Given the description of an element on the screen output the (x, y) to click on. 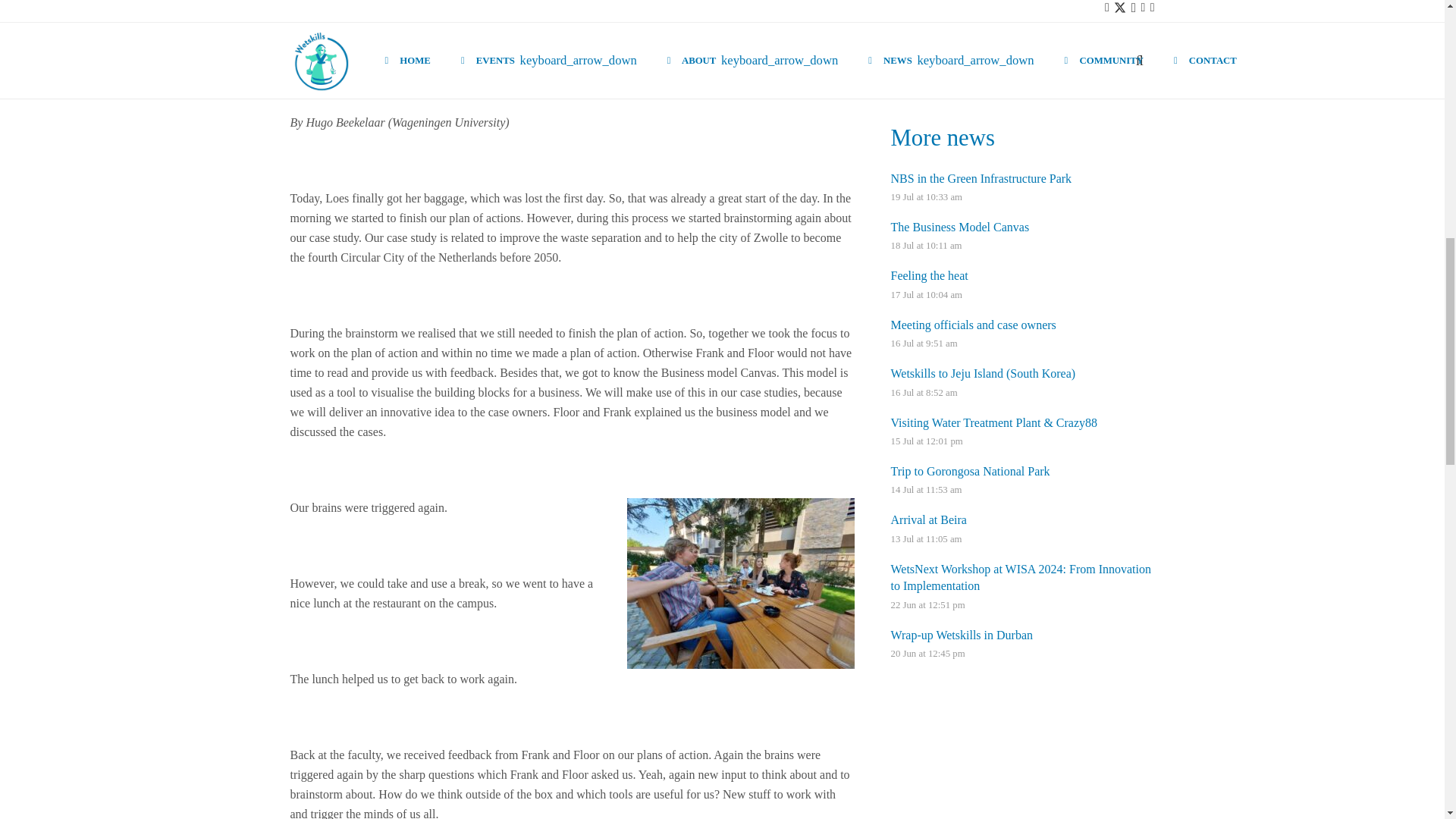
Wetskills Team (432, 28)
Frank Tibben (432, 28)
